Given the description of an element on the screen output the (x, y) to click on. 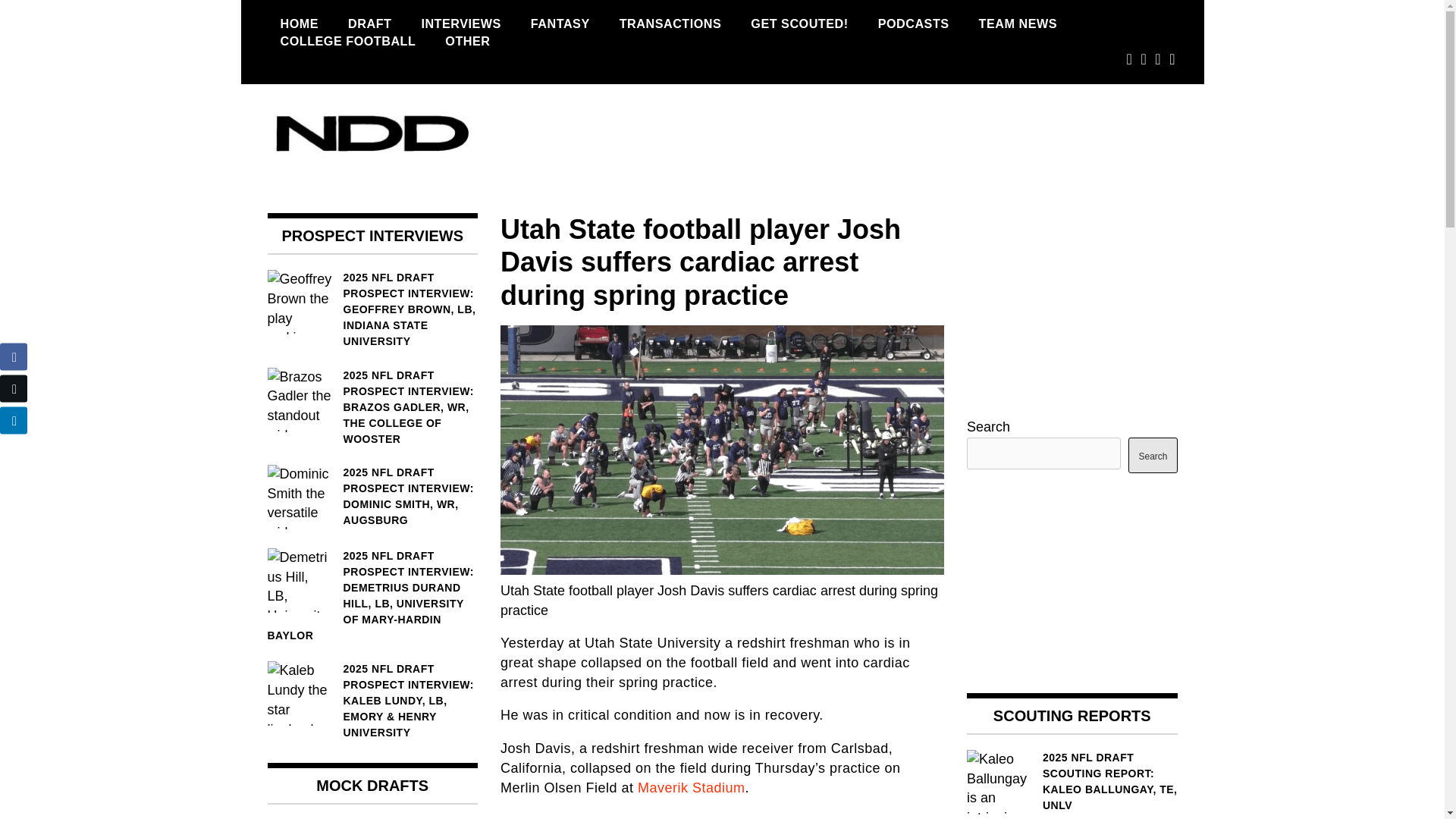
TEAM NEWS (1018, 23)
TRANSACTIONS (670, 23)
DRAFT (369, 23)
PODCASTS (913, 23)
GET SCOUTED! (799, 23)
FANTASY (560, 23)
INTERVIEWS (460, 23)
HOME (298, 23)
